Given the description of an element on the screen output the (x, y) to click on. 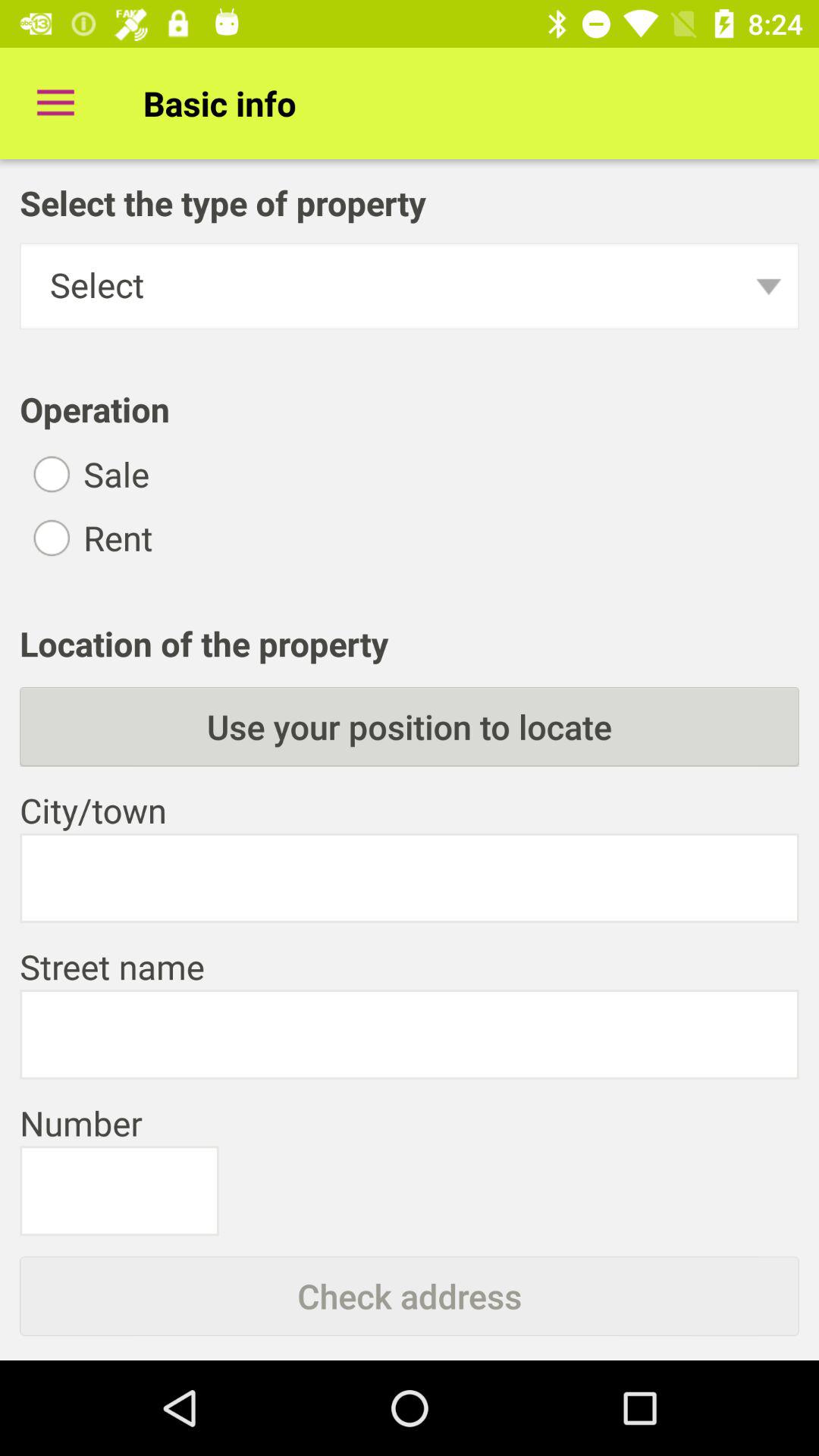
text field (409, 1034)
